Given the description of an element on the screen output the (x, y) to click on. 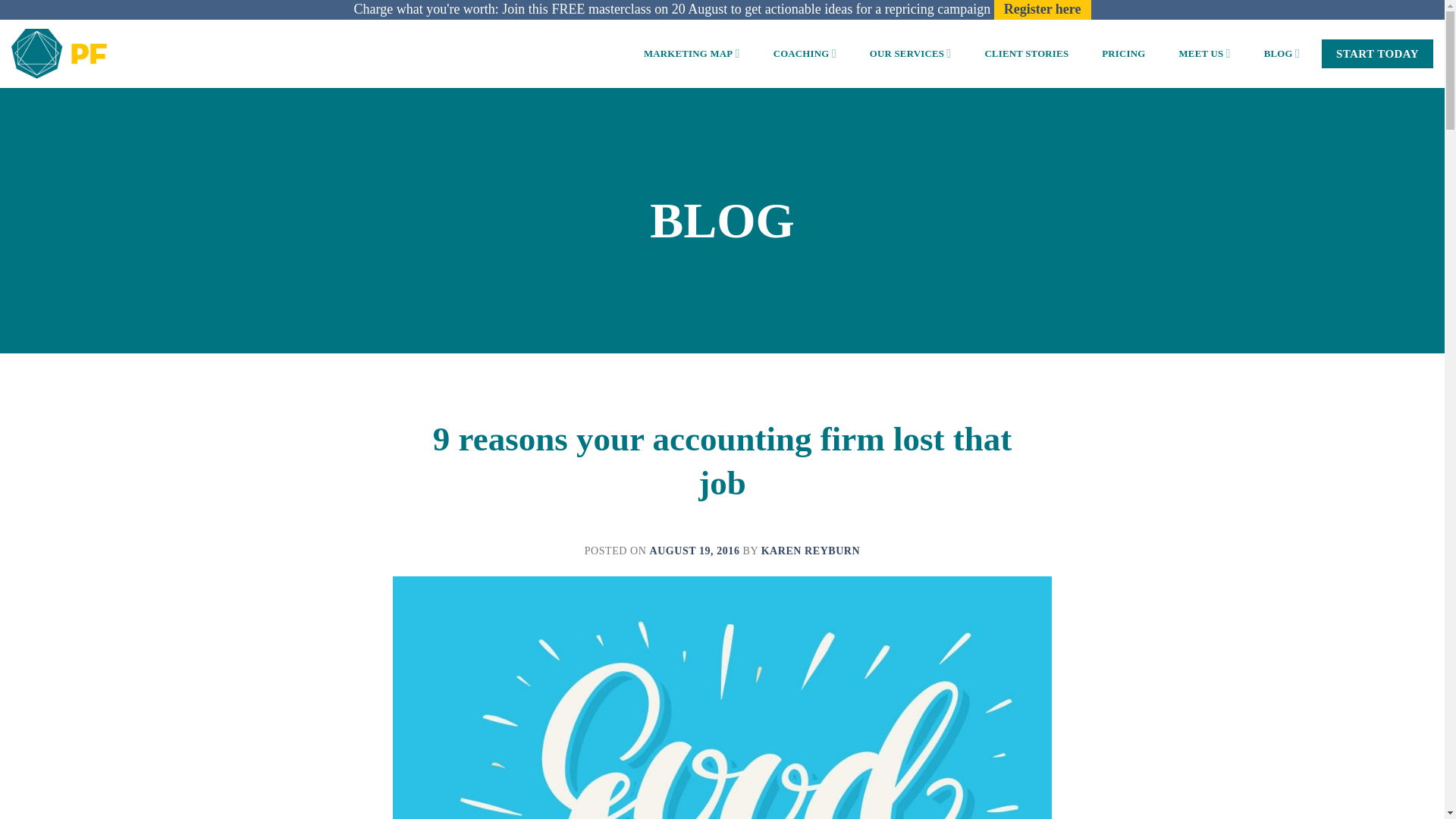
Register here (1042, 9)
wearePF (59, 53)
START TODAY (1377, 53)
BLOG (1281, 52)
MARKETING MAP (691, 52)
COACHING (804, 52)
MEET US (1204, 52)
OUR SERVICES (910, 52)
PRICING (1123, 53)
AUGUST 19, 2016 (694, 550)
KAREN REYBURN (810, 550)
CLIENT STORIES (1026, 53)
